Given the description of an element on the screen output the (x, y) to click on. 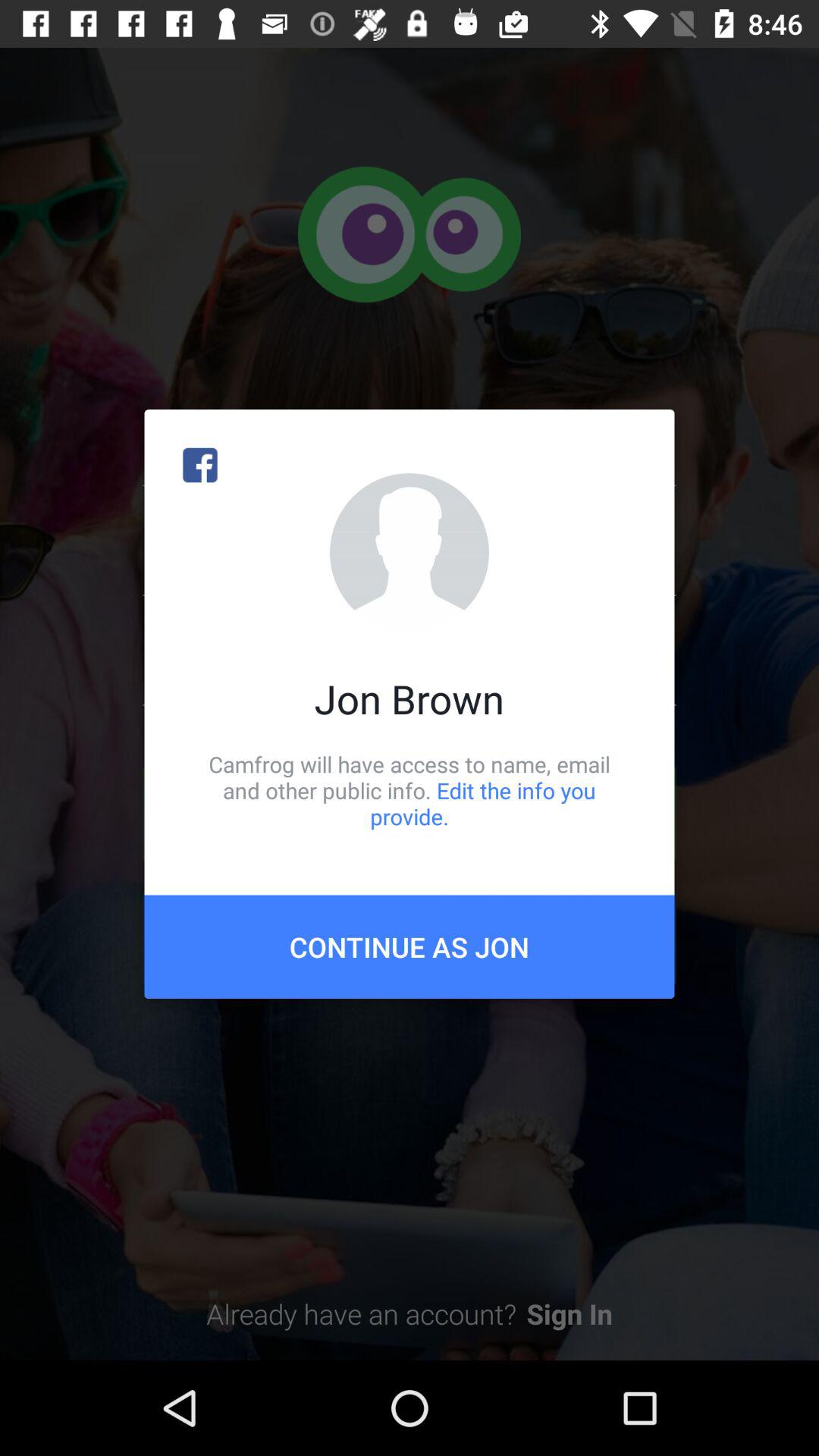
choose continue as jon (409, 946)
